Given the description of an element on the screen output the (x, y) to click on. 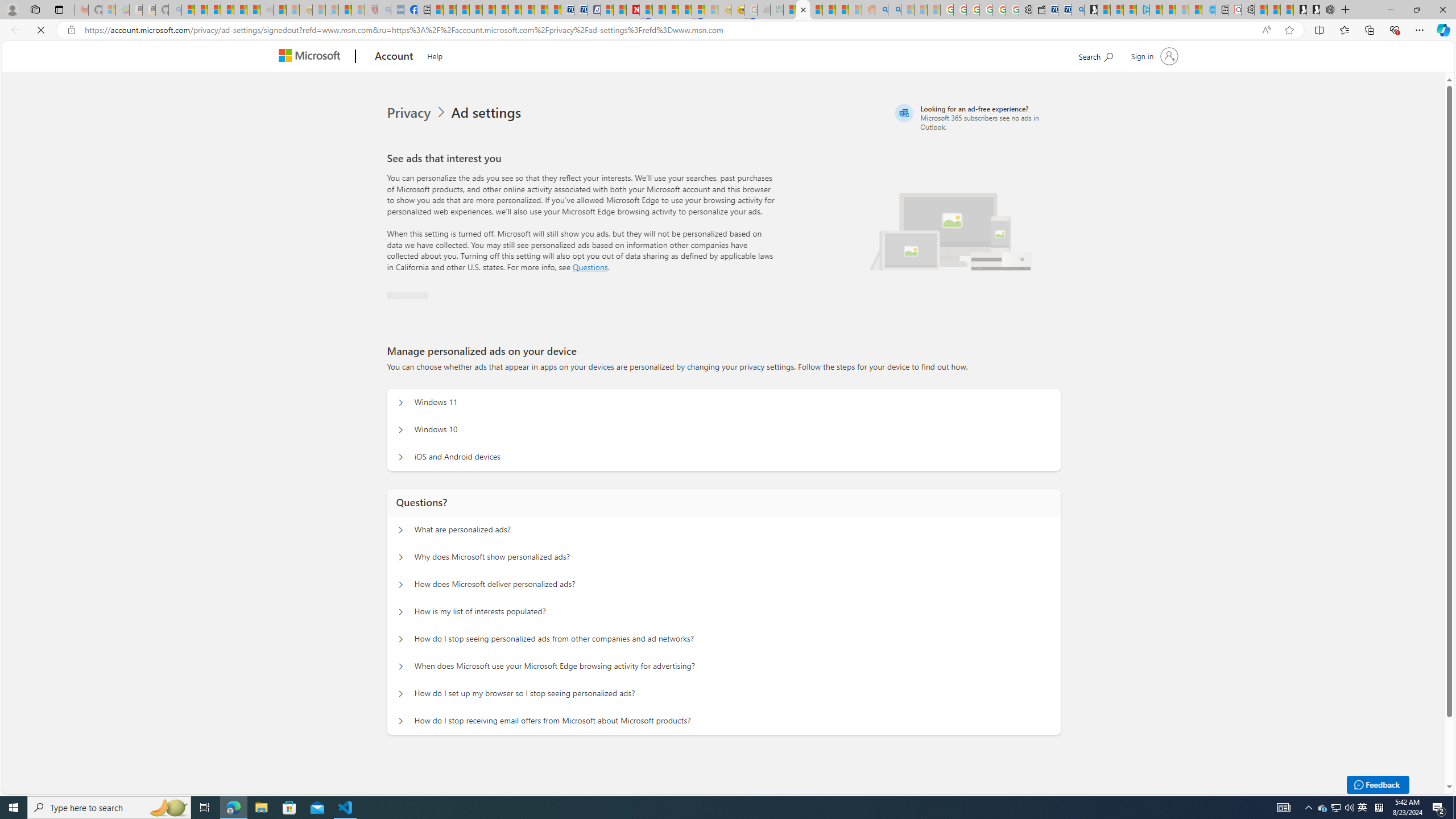
Illustration of multiple devices (1005, 255)
Questions? How does Microsoft deliver personalized ads? (399, 584)
